Given the description of an element on the screen output the (x, y) to click on. 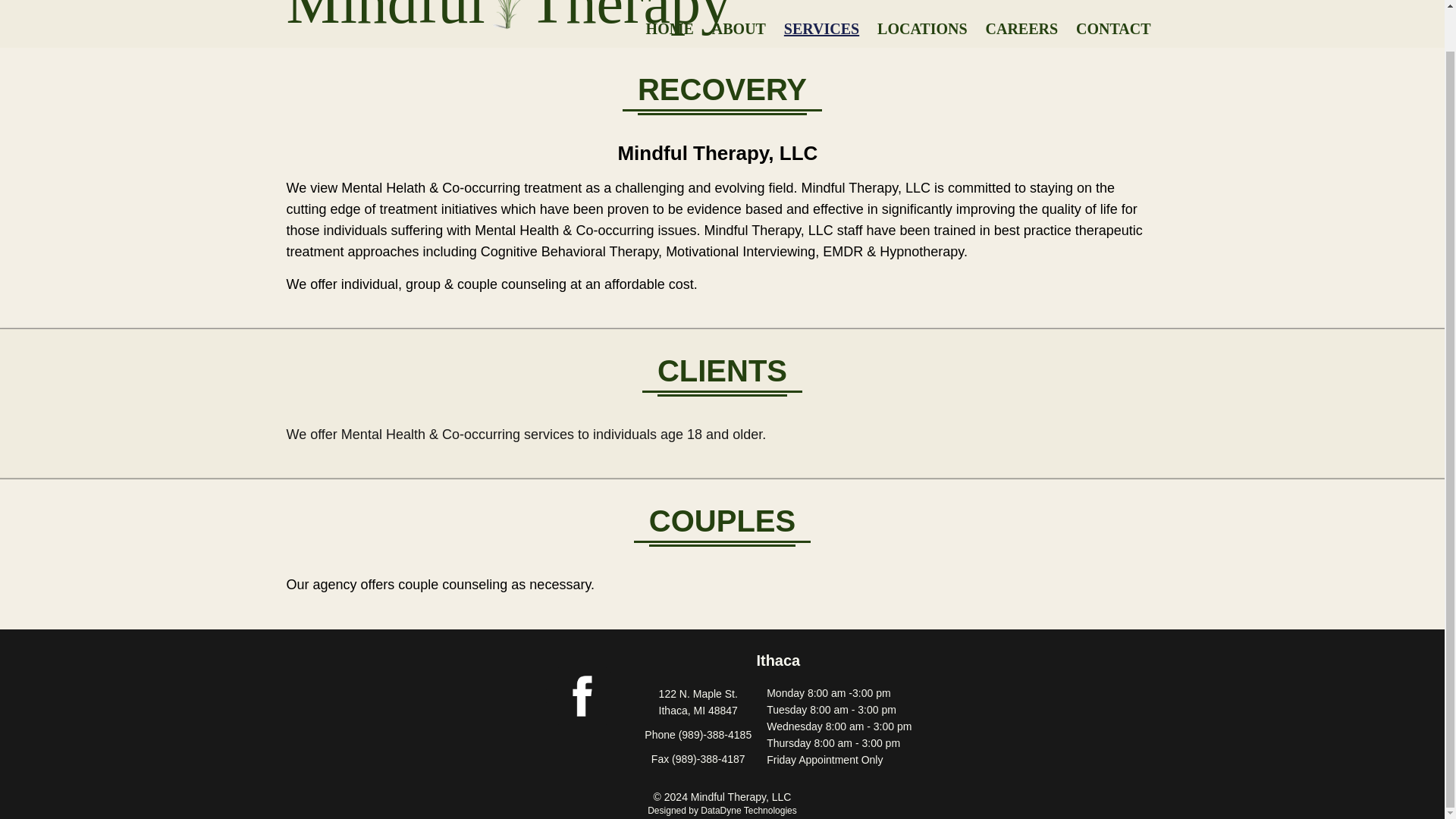
Mindful Therapy (509, 19)
DataDyne Technologies (748, 810)
CAREERS (1021, 28)
LOCATIONS (922, 28)
ABOUT (738, 28)
SERVICES (821, 28)
CONTACT (1113, 28)
HOME (670, 28)
